Given the description of an element on the screen output the (x, y) to click on. 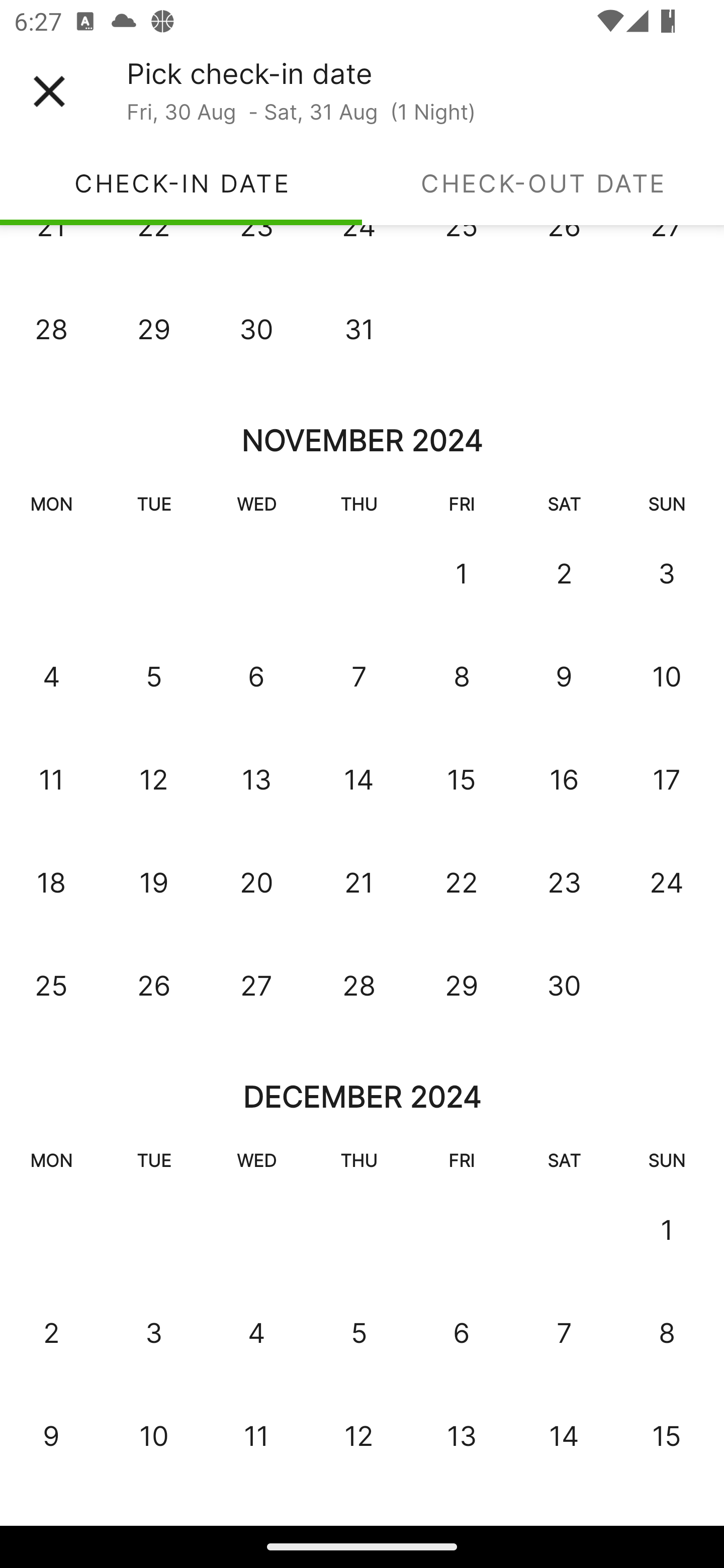
Check-out Date CHECK-OUT DATE (543, 183)
